Given the description of an element on the screen output the (x, y) to click on. 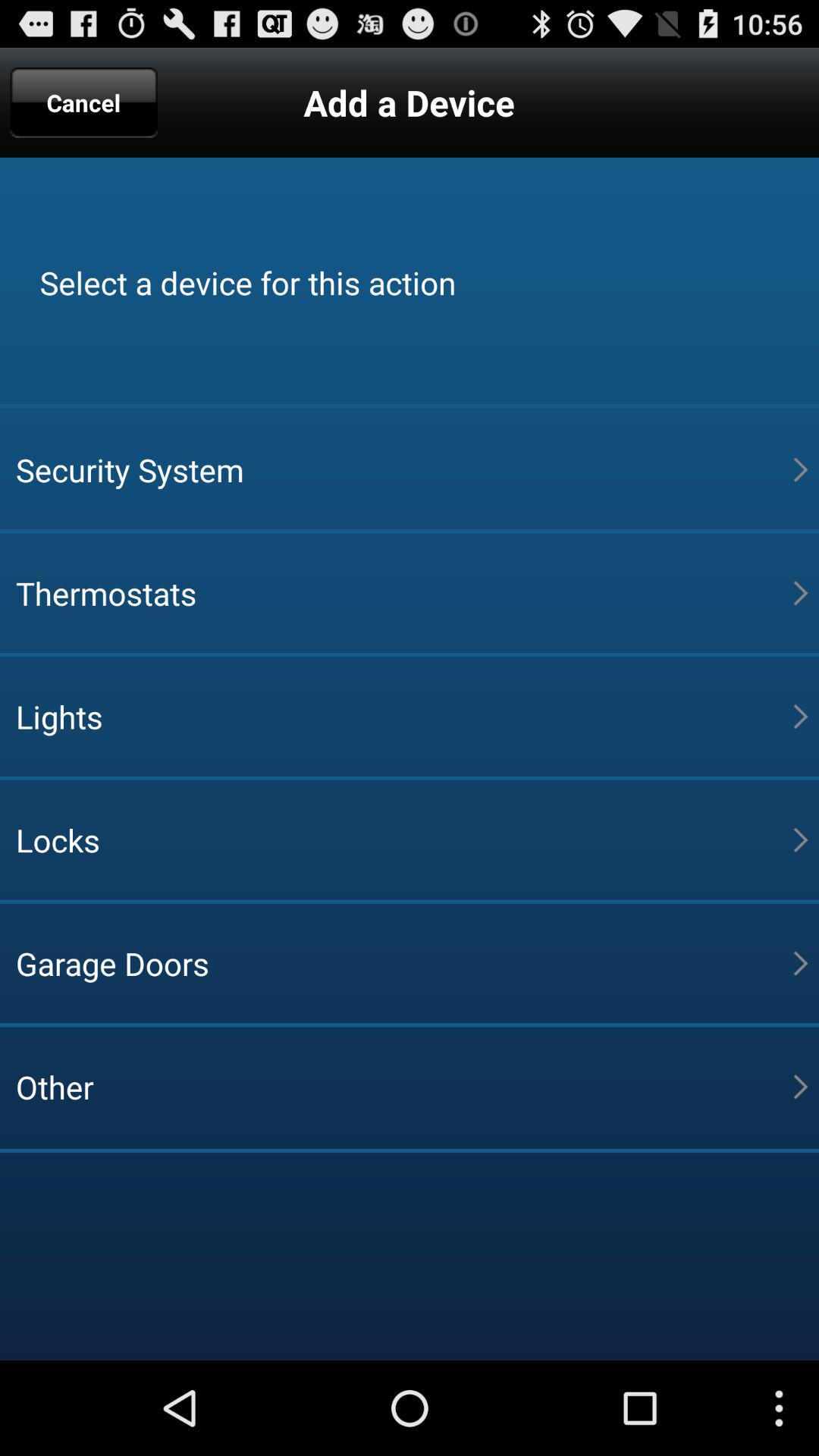
choose the security system item (403, 469)
